Given the description of an element on the screen output the (x, y) to click on. 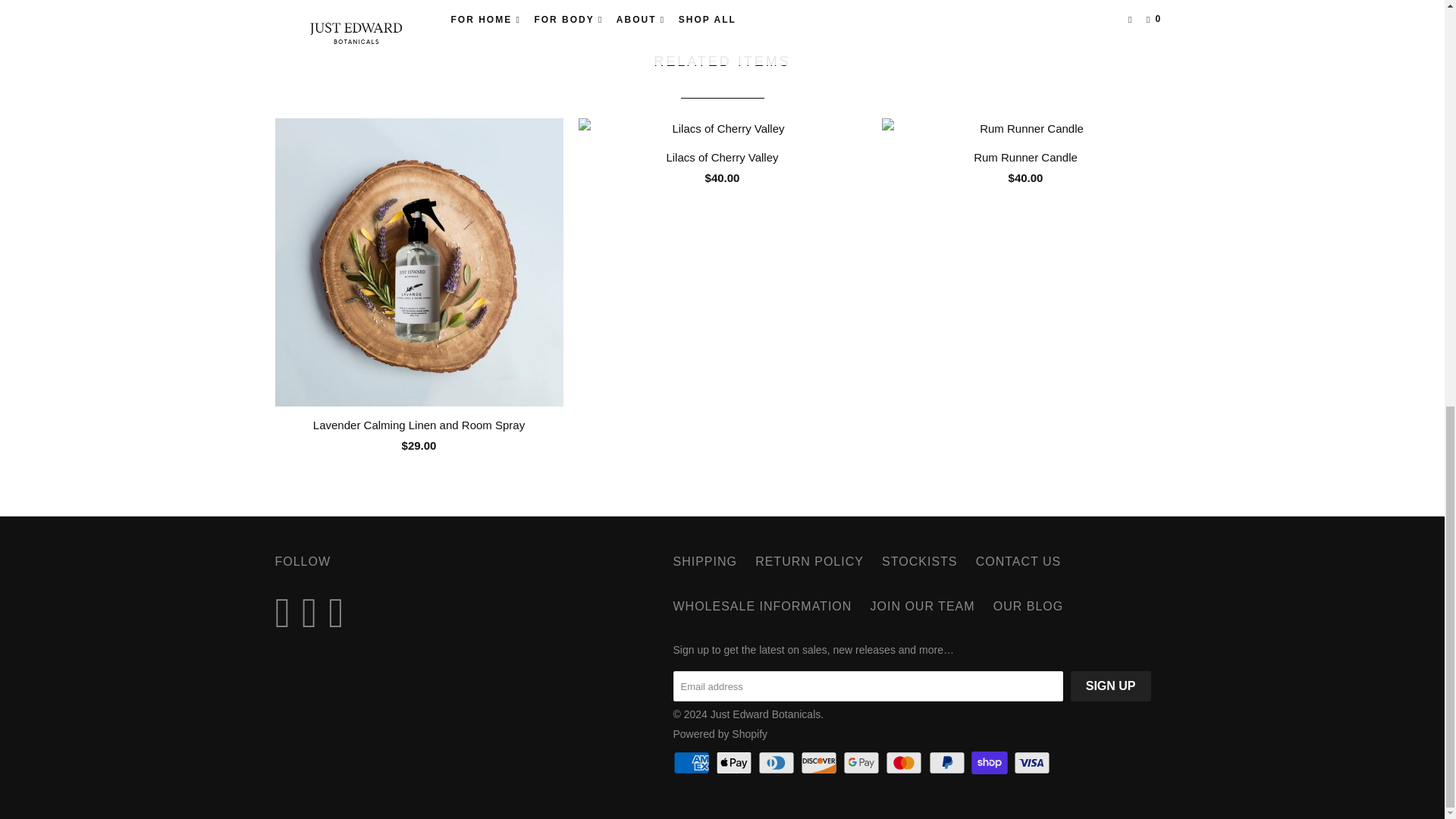
Sign Up (1110, 685)
Discover (820, 762)
Diners Club (777, 762)
Shop Pay (990, 762)
Mastercard (904, 762)
Visa (1032, 762)
PayPal (948, 762)
American Express (692, 762)
Apple Pay (735, 762)
Google Pay (862, 762)
